Given the description of an element on the screen output the (x, y) to click on. 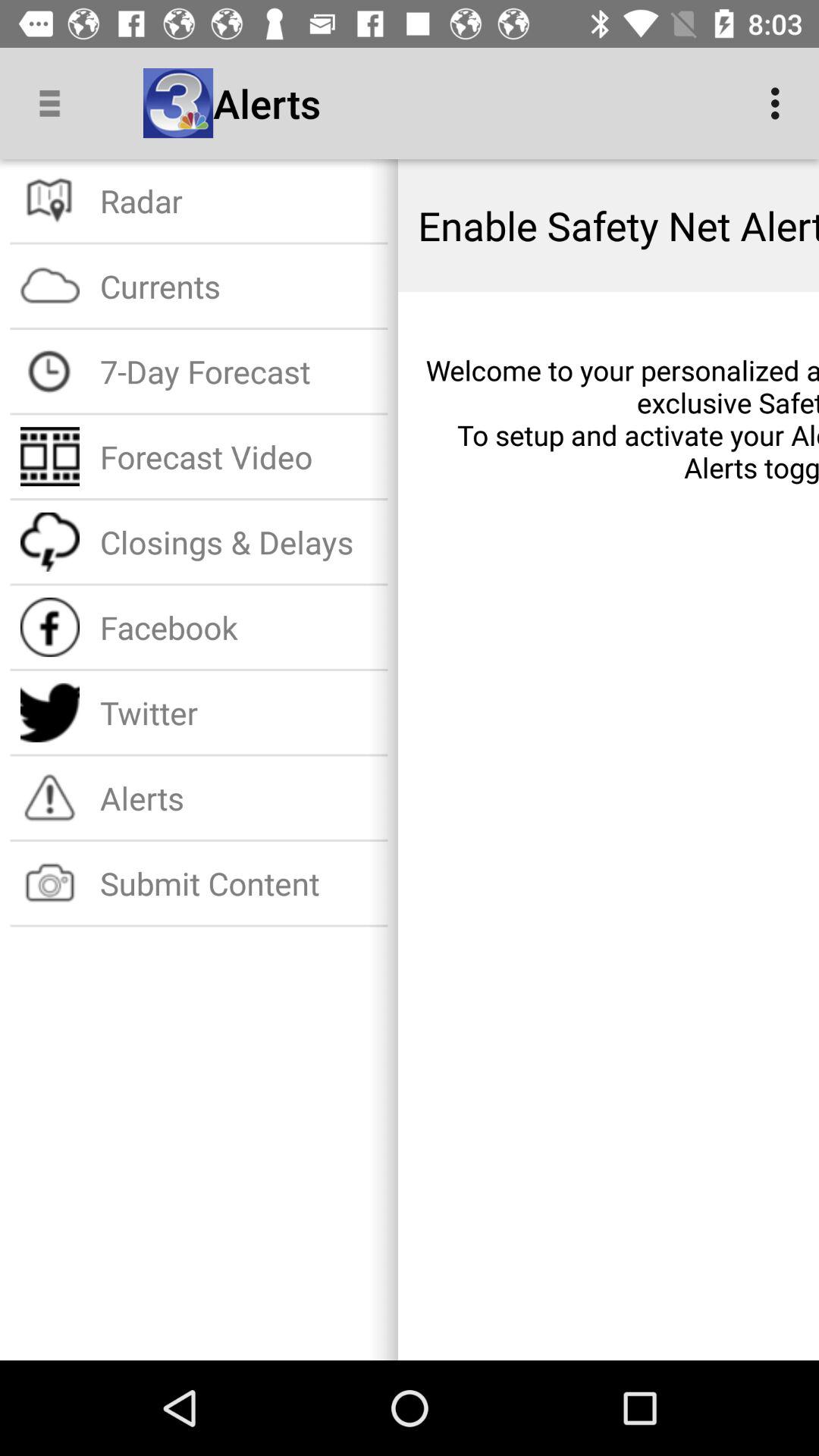
open item to the left of enable safety net item (238, 200)
